Given the description of an element on the screen output the (x, y) to click on. 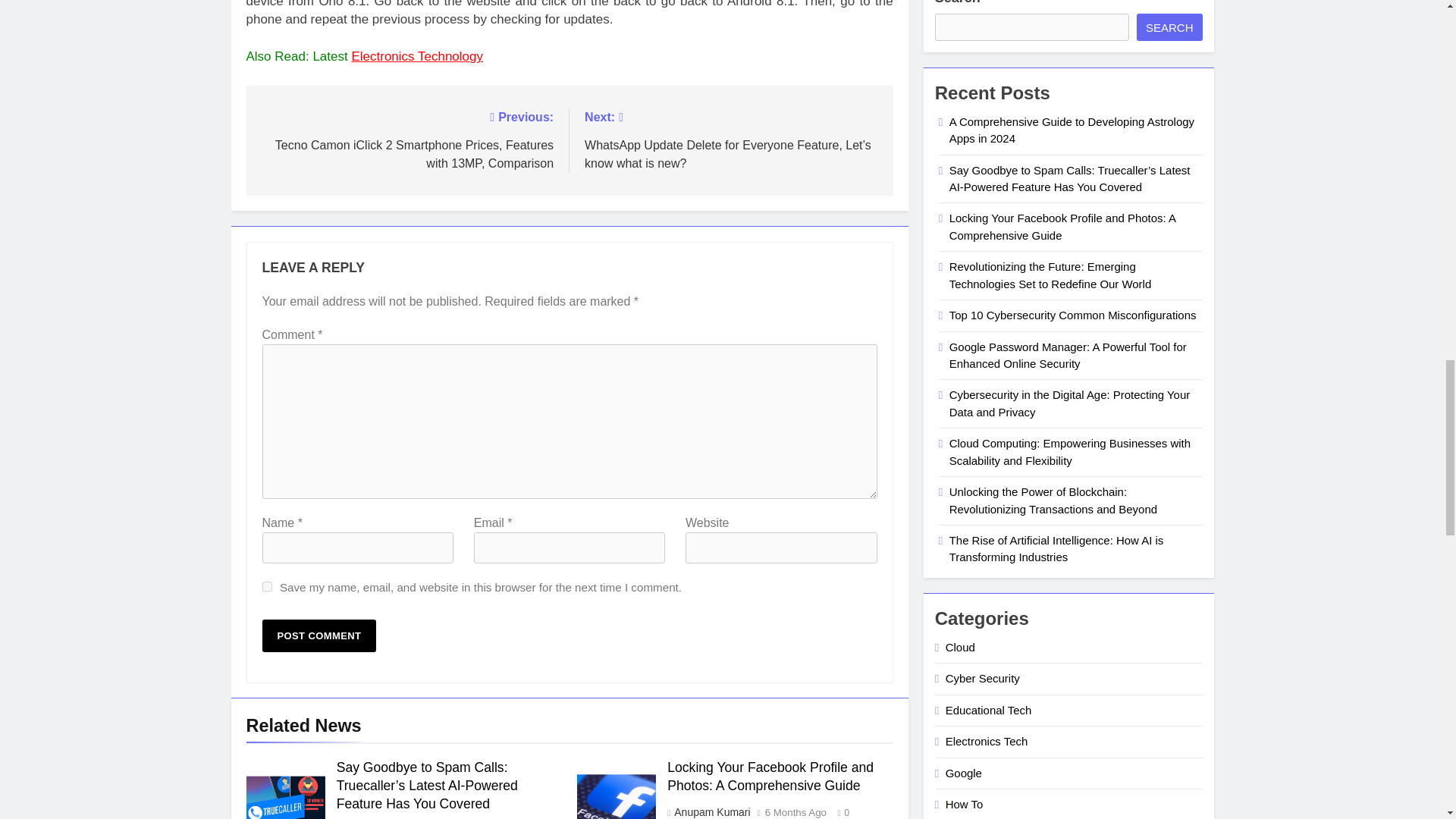
Post Comment (319, 635)
yes (267, 586)
